Given the description of an element on the screen output the (x, y) to click on. 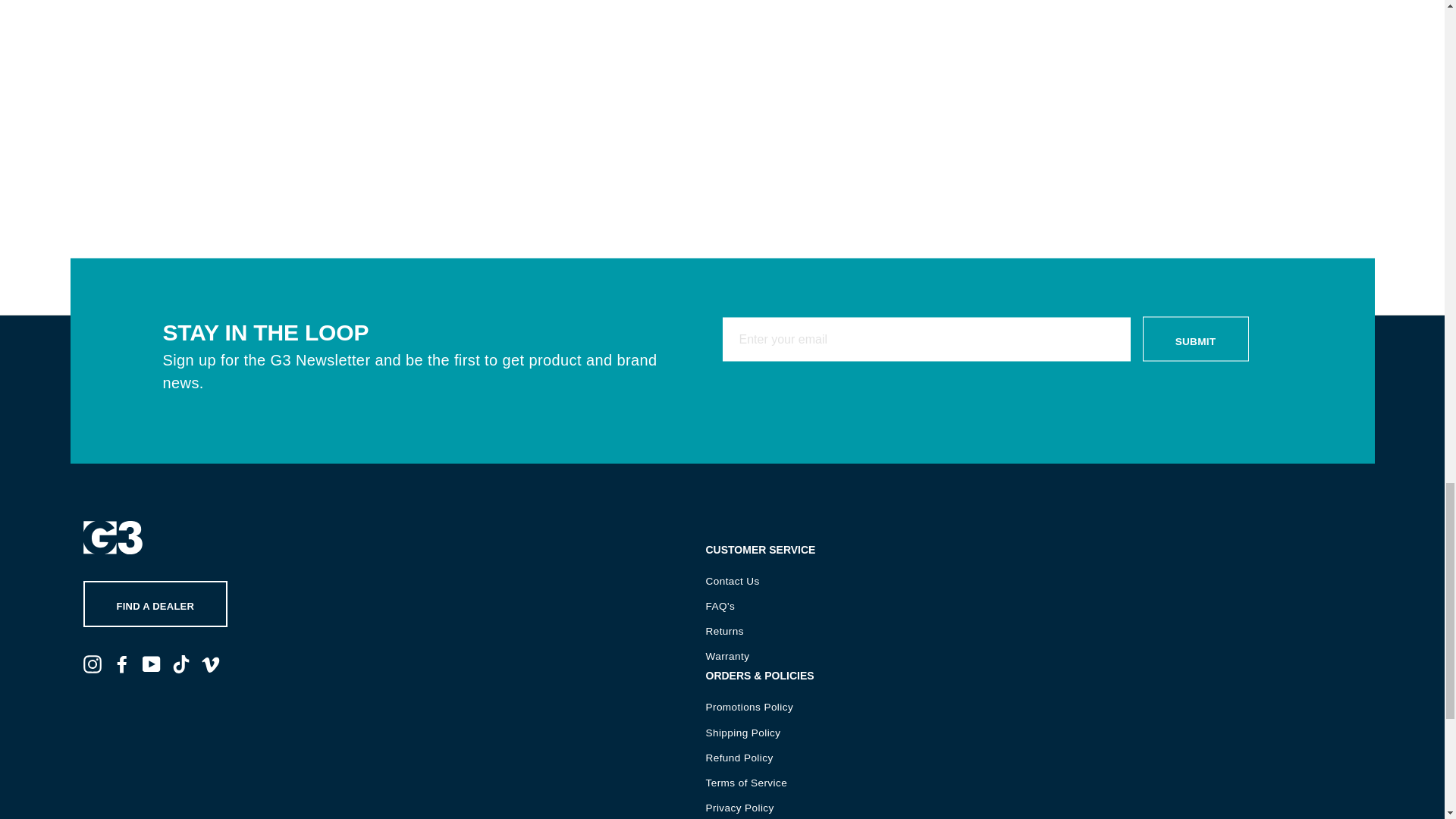
G3 Store Canada on TikTok (180, 663)
G3 Store Canada on Vimeo (210, 663)
G3 Store Canada on Instagram (91, 663)
G3 Store Canada on YouTube (151, 663)
G3 Store Canada on Facebook (121, 663)
